Given the description of an element on the screen output the (x, y) to click on. 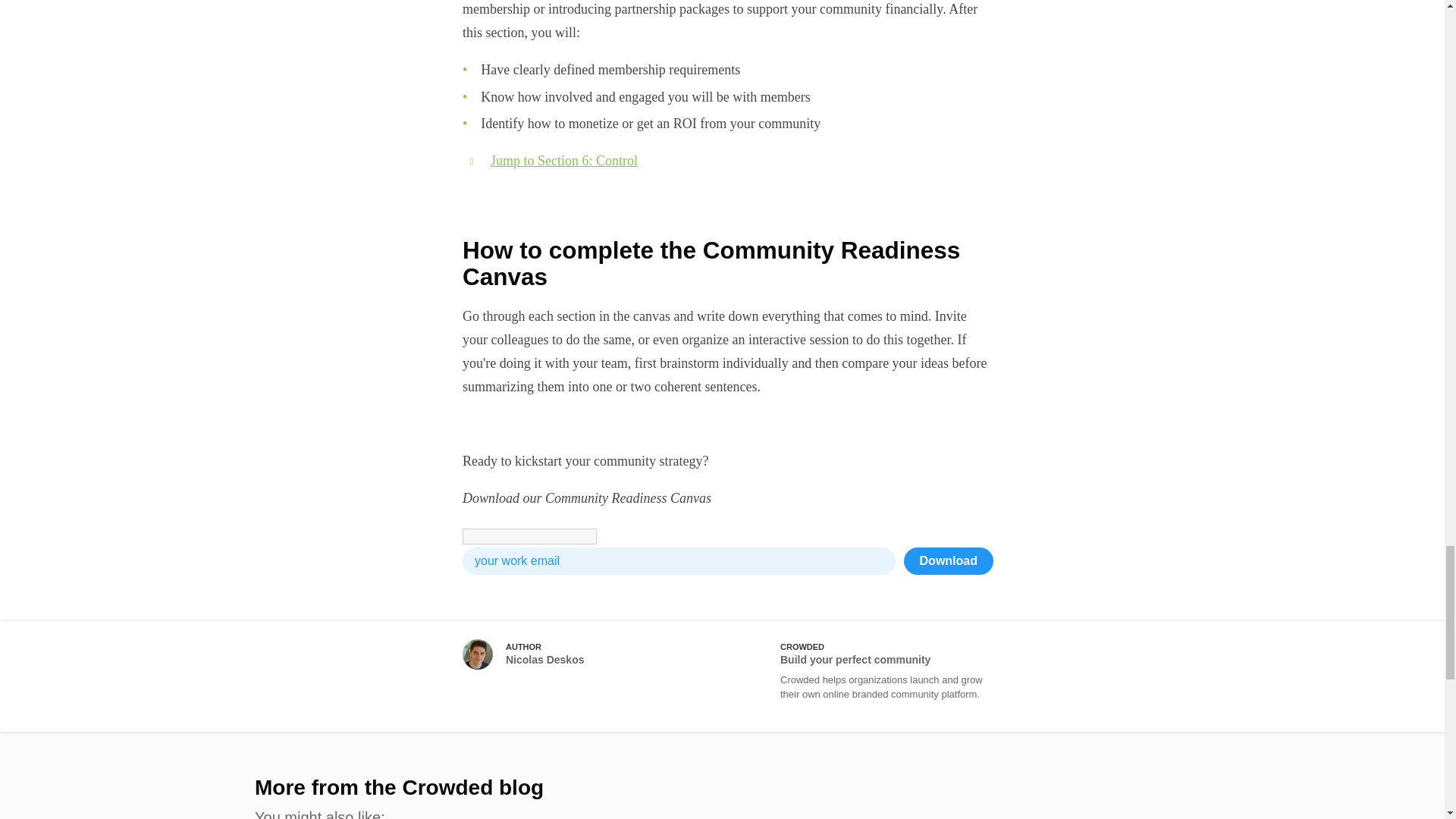
Jump to Section 6: Control (563, 160)
Download (948, 560)
Crowded (864, 676)
